Given the description of an element on the screen output the (x, y) to click on. 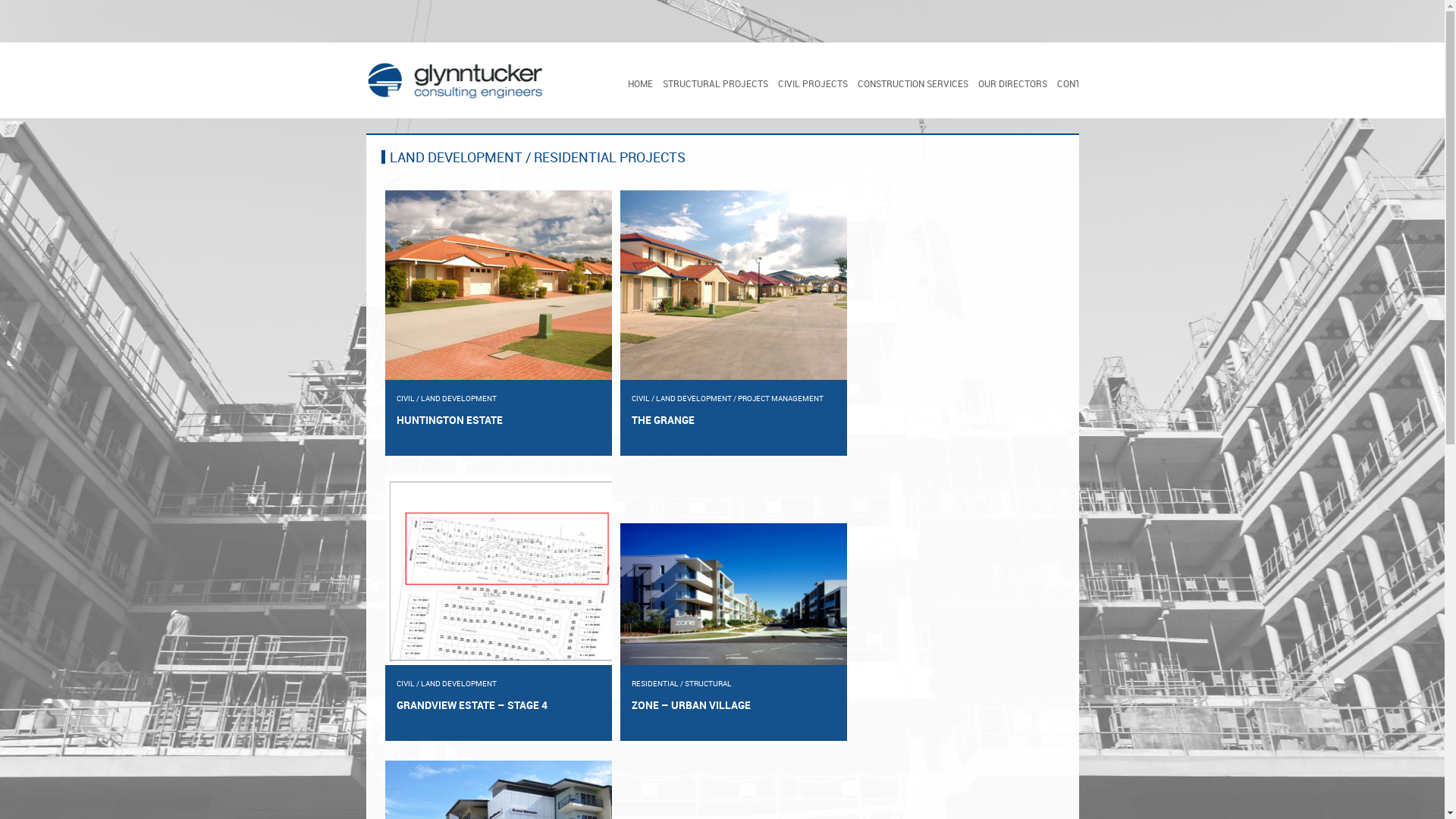
HUNTINGTON ESTATE Element type: text (497, 419)
OUR DIRECTORS Element type: text (1012, 83)
CIVIL PROJECTS Element type: text (812, 83)
CONTACT Element type: text (1077, 83)
STRUCTURAL PROJECTS Element type: text (715, 83)
CONSTRUCTION SERVICES Element type: text (912, 83)
THE GRANGE Element type: text (732, 419)
HOME Element type: text (639, 83)
